Given the description of an element on the screen output the (x, y) to click on. 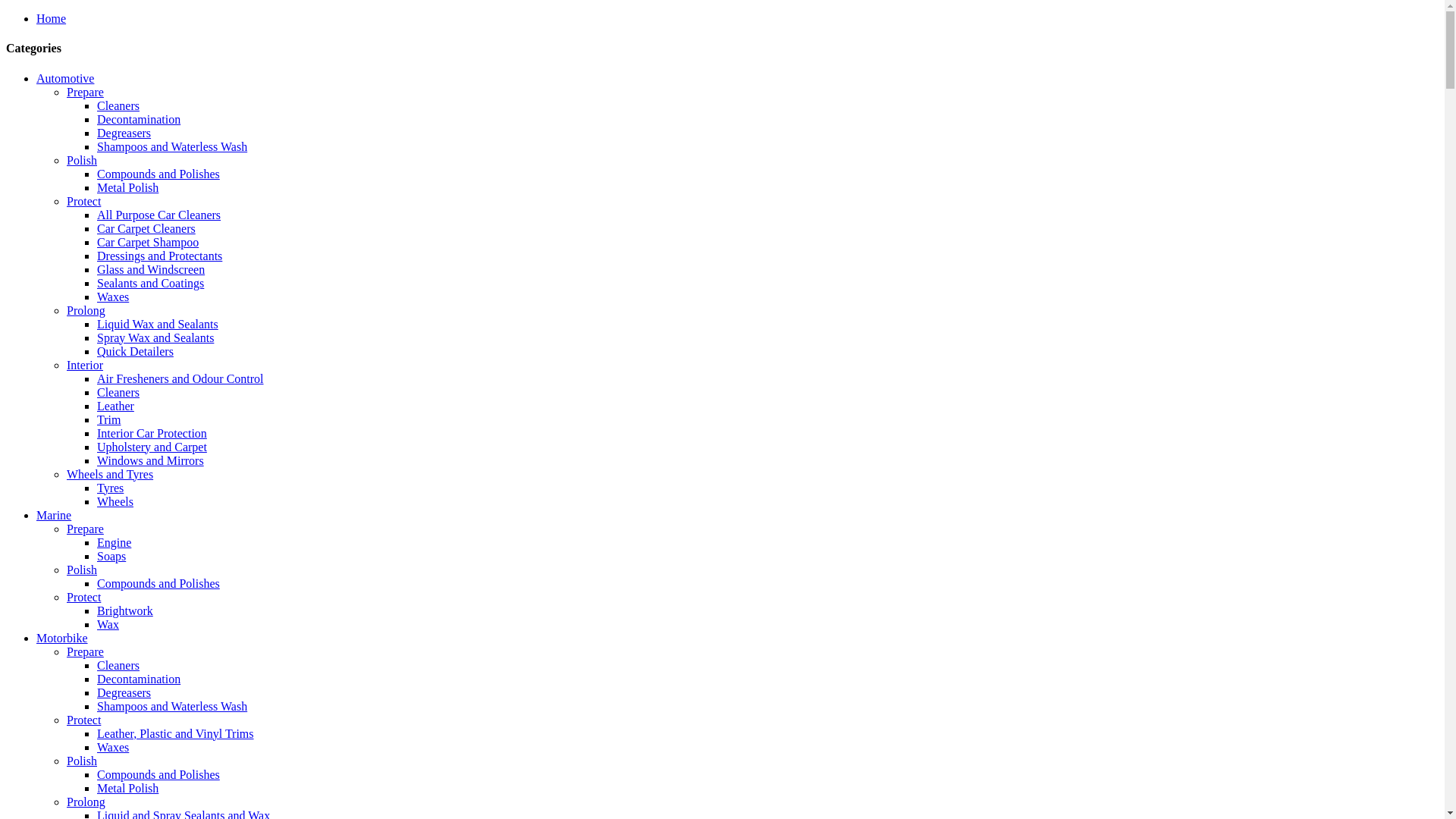
Brightwork Element type: text (125, 610)
Dressings and Protectants Element type: text (159, 255)
Automotive Element type: text (65, 78)
Metal Polish Element type: text (127, 187)
Liquid Wax and Sealants Element type: text (157, 323)
Motorbike Element type: text (61, 637)
Polish Element type: text (81, 569)
Protect Element type: text (83, 200)
Prepare Element type: text (84, 528)
Home Element type: text (50, 18)
Polish Element type: text (81, 760)
Leather Element type: text (115, 405)
Degreasers Element type: text (123, 132)
Protect Element type: text (83, 719)
Cleaners Element type: text (118, 391)
Wax Element type: text (108, 624)
Compounds and Polishes Element type: text (158, 774)
Quick Detailers Element type: text (135, 351)
Leather, Plastic and Vinyl Trims Element type: text (175, 733)
Cleaners Element type: text (118, 105)
Interior Element type: text (84, 364)
Soaps Element type: text (111, 555)
Waxes Element type: text (112, 746)
Cleaners Element type: text (118, 664)
Trim Element type: text (108, 419)
Sealants and Coatings Element type: text (150, 282)
Prolong Element type: text (85, 310)
All Purpose Car Cleaners Element type: text (158, 214)
Waxes Element type: text (112, 296)
Air Fresheners and Odour Control Element type: text (180, 378)
Car Carpet Shampoo Element type: text (147, 241)
Degreasers Element type: text (123, 692)
Spray Wax and Sealants Element type: text (155, 337)
Compounds and Polishes Element type: text (158, 583)
Engine Element type: text (114, 542)
Decontamination Element type: text (138, 678)
Compounds and Polishes Element type: text (158, 173)
Wheels Element type: text (115, 501)
Windows and Mirrors Element type: text (150, 460)
Interior Car Protection Element type: text (152, 432)
Shampoos and Waterless Wash Element type: text (172, 146)
Prepare Element type: text (84, 651)
Prepare Element type: text (84, 91)
Metal Polish Element type: text (127, 787)
Decontamination Element type: text (138, 118)
Upholstery and Carpet Element type: text (152, 446)
Protect Element type: text (83, 596)
Glass and Windscreen Element type: text (150, 269)
Car Carpet Cleaners Element type: text (146, 228)
Tyres Element type: text (110, 487)
Marine Element type: text (53, 514)
Wheels and Tyres Element type: text (109, 473)
Shampoos and Waterless Wash Element type: text (172, 705)
Polish Element type: text (81, 159)
Prolong Element type: text (85, 801)
